Given the description of an element on the screen output the (x, y) to click on. 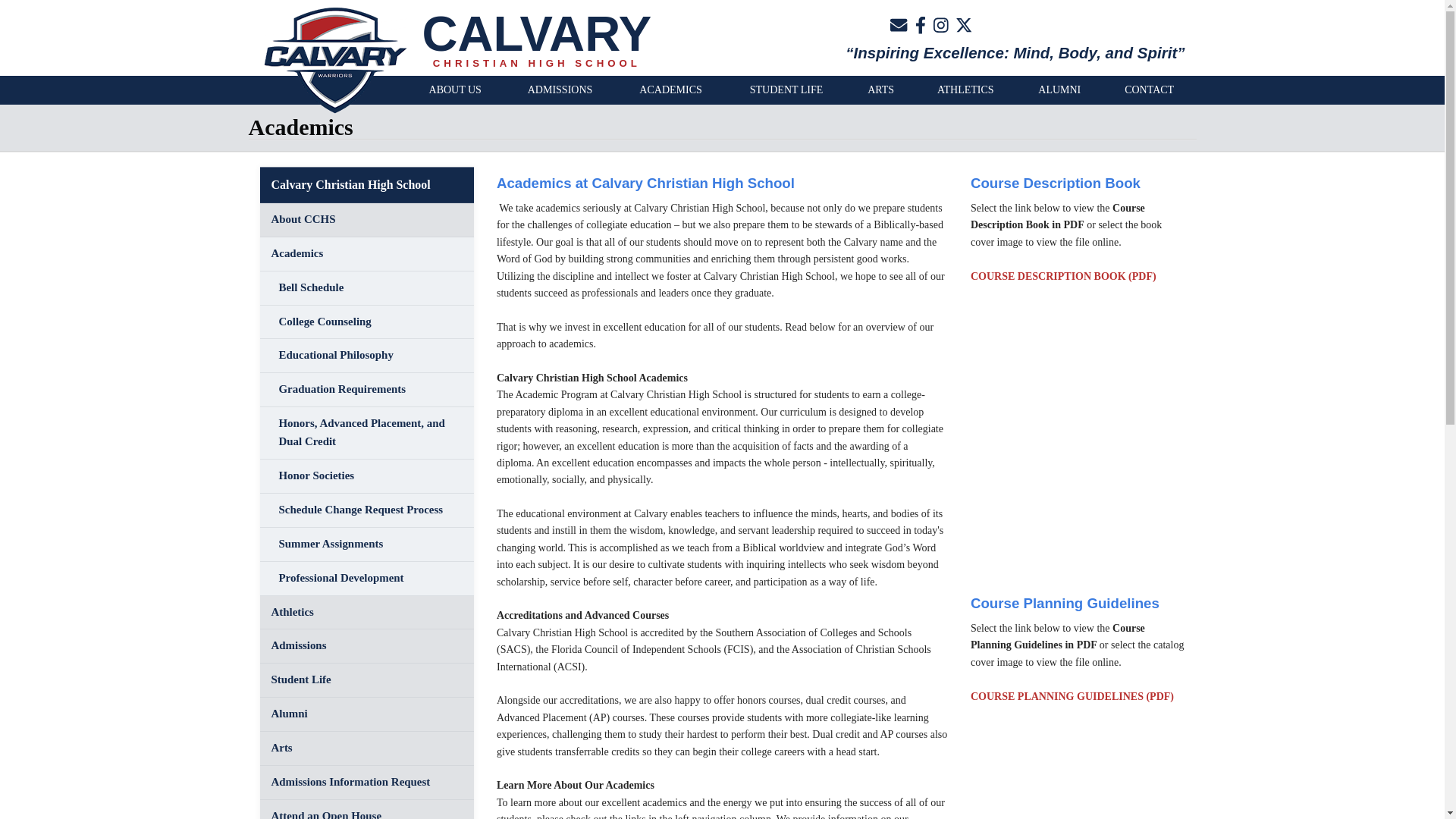
Honors, Advanced Placement, and Dual Credit (366, 433)
STUDENT LIFE (786, 90)
CALVARY (536, 33)
Honor Societies (366, 476)
Academics (366, 254)
Schedule Change Request Process (366, 510)
Arts (366, 748)
Admissions (366, 646)
ADMISSIONS (559, 90)
CONTACT (1149, 90)
